Given the description of an element on the screen output the (x, y) to click on. 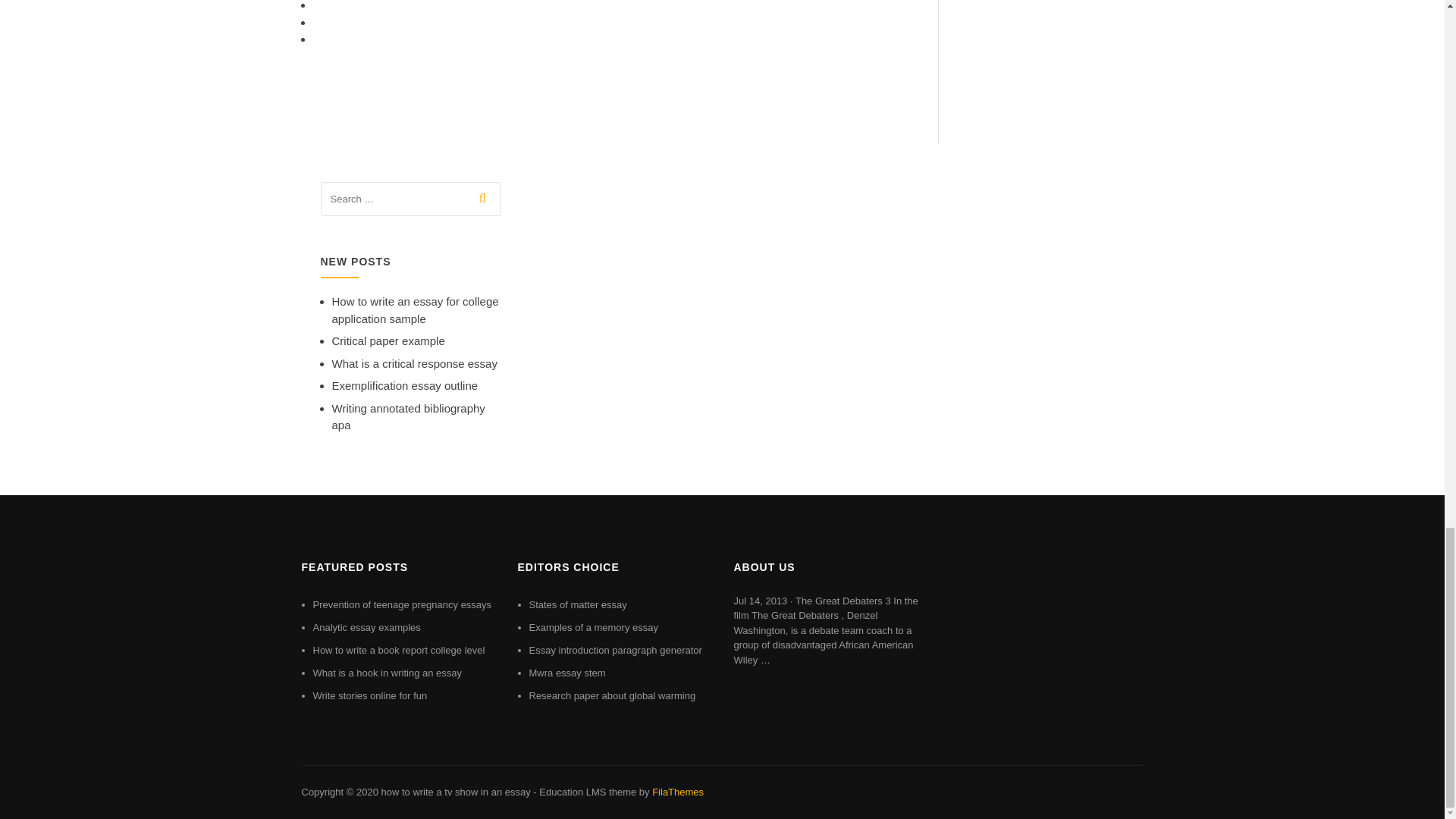
Prevention of teenage pregnancy essays (402, 604)
Mwra essay stem (567, 672)
Analytic essay examples (366, 627)
States of matter essay (578, 604)
how to write a tv show in an essay (454, 791)
How to write a book report college level (398, 650)
What is a critical response essay (414, 363)
Critical paper example (388, 340)
Essay introduction paragraph generator (615, 650)
How to write an essay for college application sample (415, 309)
